Given the description of an element on the screen output the (x, y) to click on. 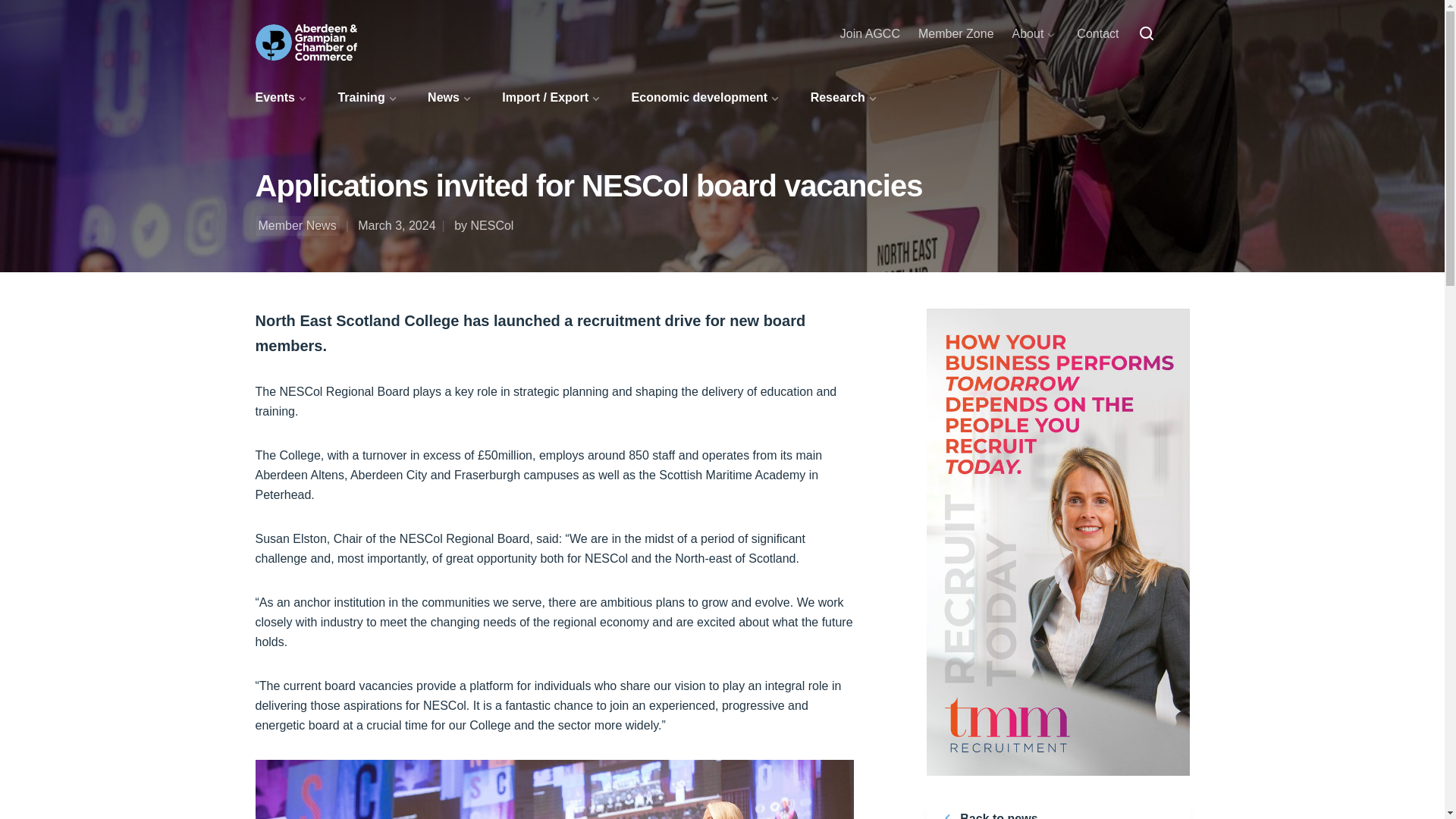
News (450, 97)
Training (368, 97)
Economic development (707, 97)
Events (282, 97)
